Given the description of an element on the screen output the (x, y) to click on. 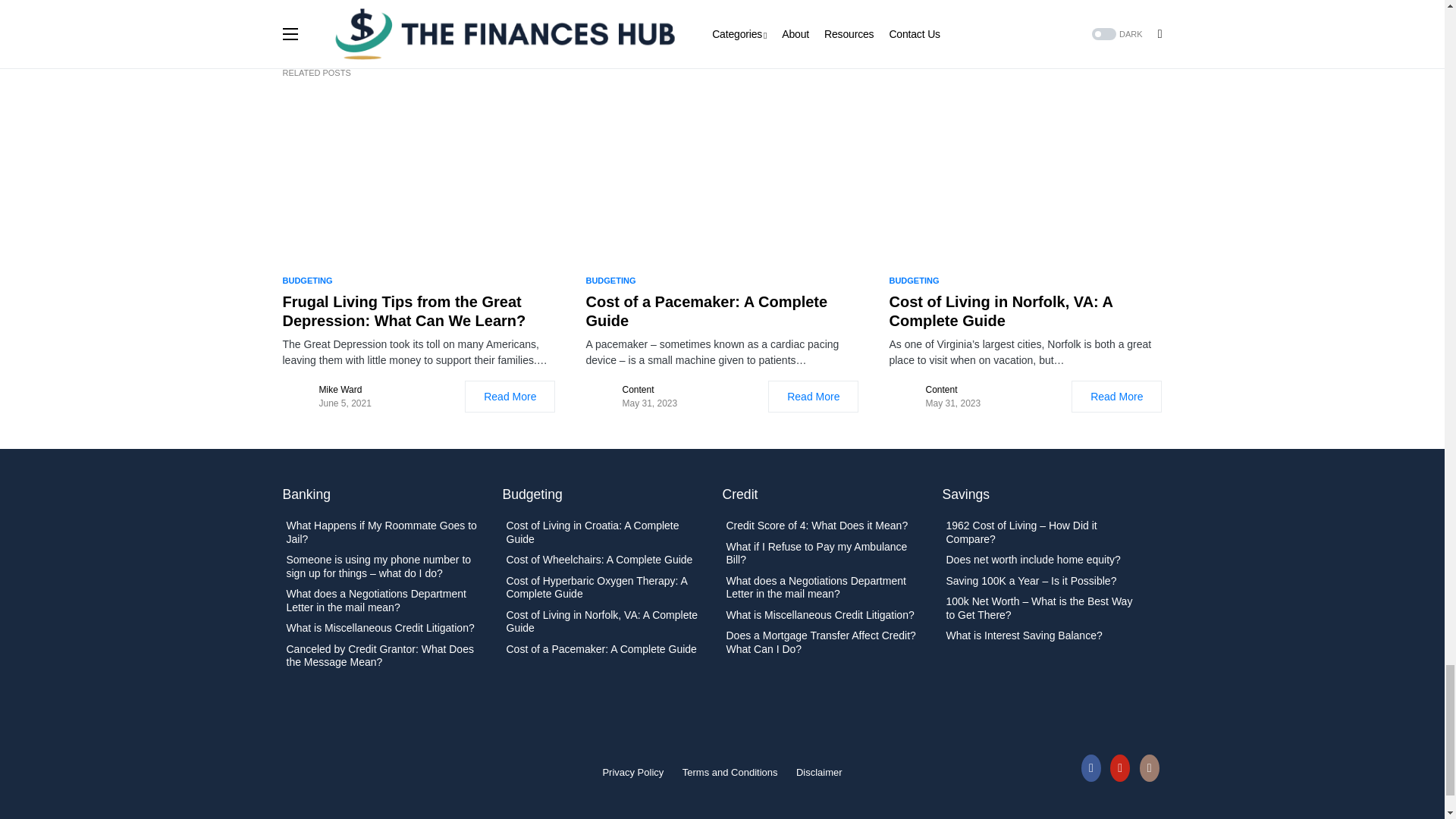
Gravatar for Content (600, 396)
Gravatar for Mike Ward (297, 396)
Gravatar for Content (903, 396)
